Given the description of an element on the screen output the (x, y) to click on. 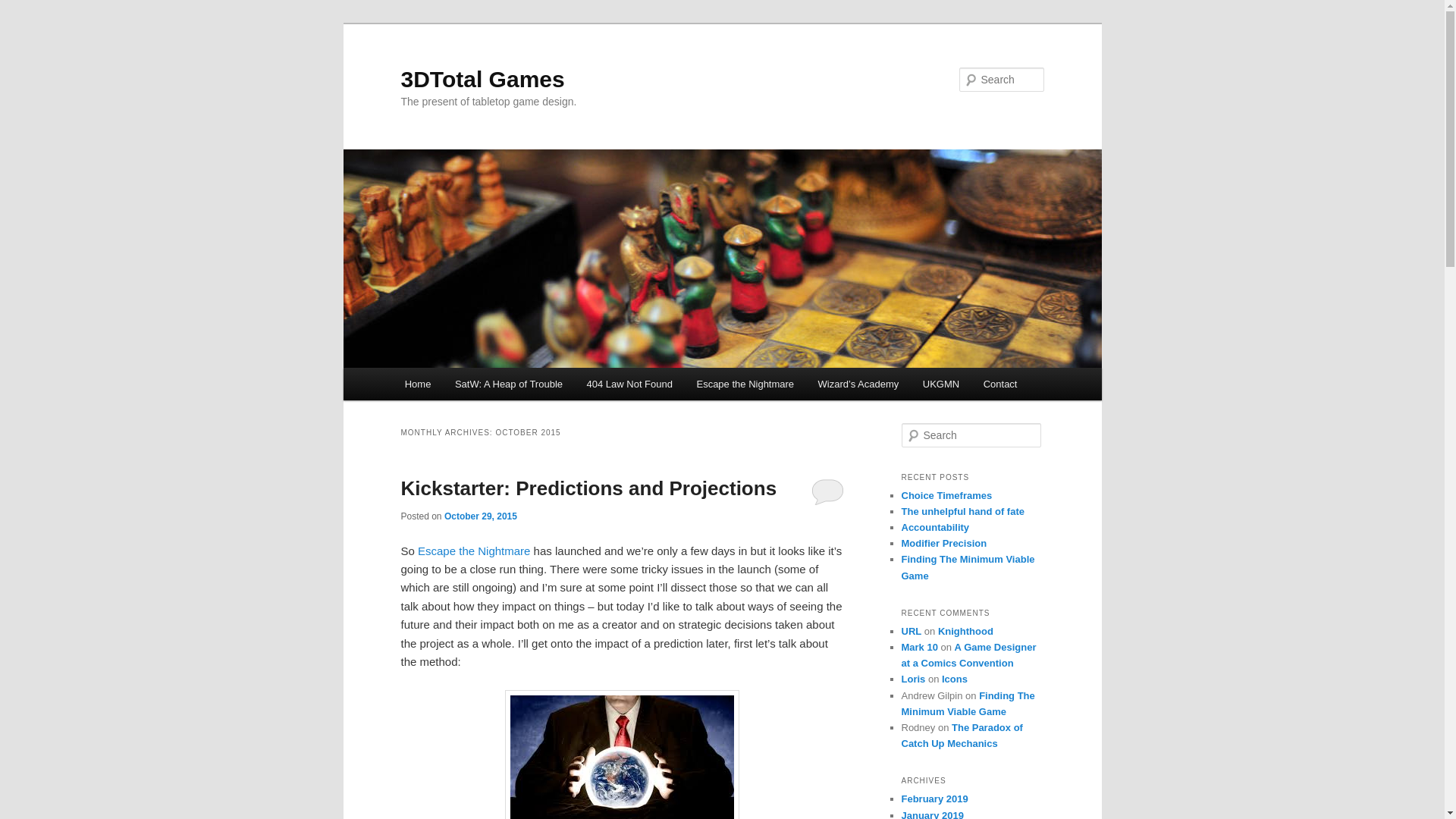
Escape the Nightmare Element type: text (745, 383)
Choice Timeframes Element type: text (945, 495)
Finding The Minimum Viable Game Element type: text (967, 566)
October 29, 2015 Element type: text (480, 516)
Kickstarter: Predictions and Projections Element type: text (588, 487)
A Game Designer at a Comics Convention Element type: text (967, 654)
Search Element type: text (20, 10)
Finding The Minimum Viable Game Element type: text (967, 703)
Icons Element type: text (954, 678)
Escape the Nightmare Element type: text (473, 550)
Home Element type: text (417, 383)
Modifier Precision Element type: text (943, 543)
Contact Element type: text (1000, 383)
UKGMN Element type: text (940, 383)
Accountability Element type: text (934, 527)
Knighthood Element type: text (965, 631)
3DTotal Games Element type: text (482, 78)
Skip to primary content Element type: text (22, 22)
Mark 10 Element type: text (918, 646)
URL Element type: text (910, 631)
February 2019 Element type: text (933, 798)
SatW: A Heap of Trouble Element type: text (508, 383)
The unhelpful hand of fate Element type: text (962, 511)
The Paradox of Catch Up Mechanics Element type: text (961, 735)
Loris Element type: text (912, 678)
Search Element type: text (24, 8)
404 Law Not Found Element type: text (629, 383)
